Given the description of an element on the screen output the (x, y) to click on. 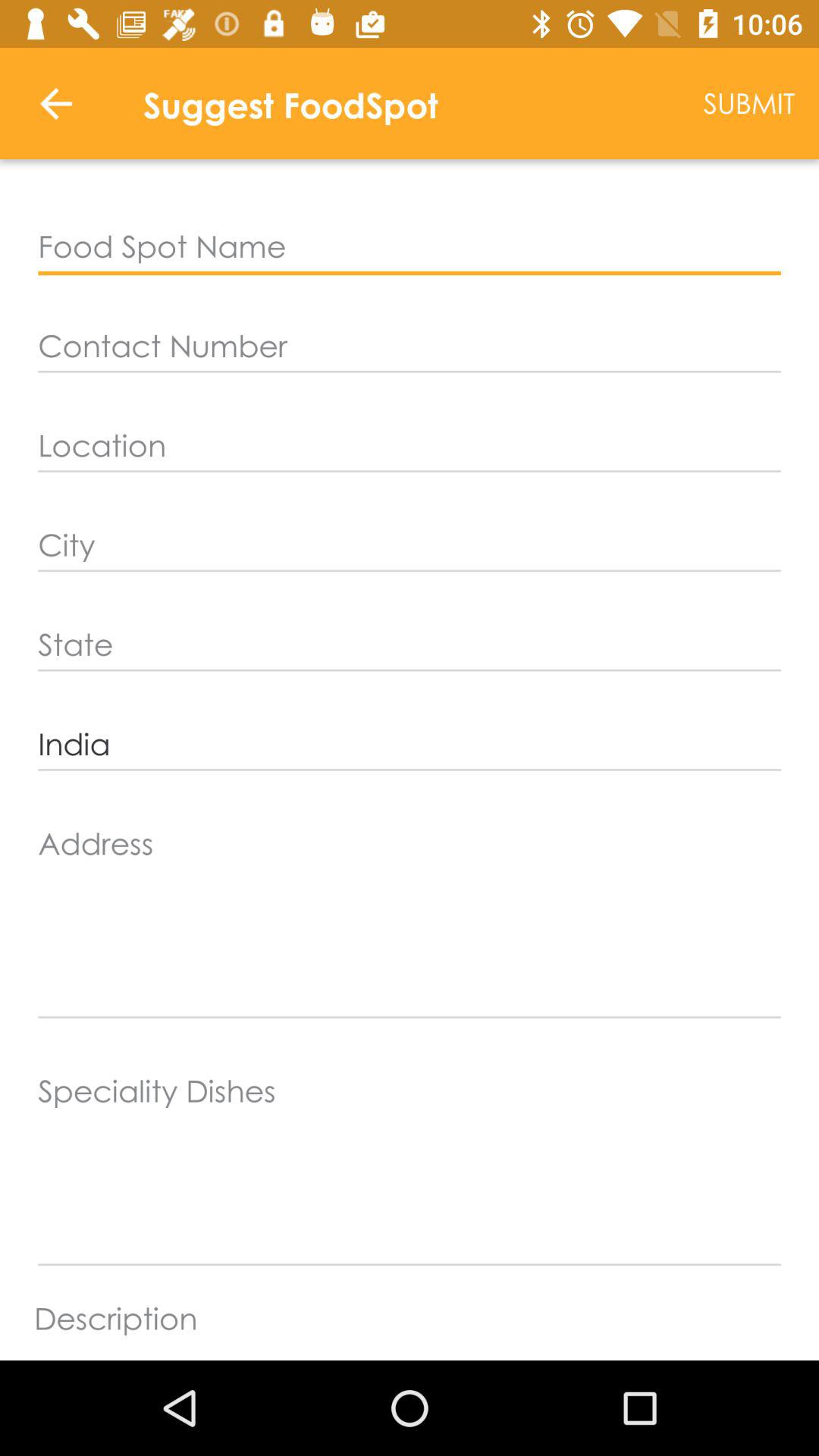
select india item (409, 744)
